Given the description of an element on the screen output the (x, y) to click on. 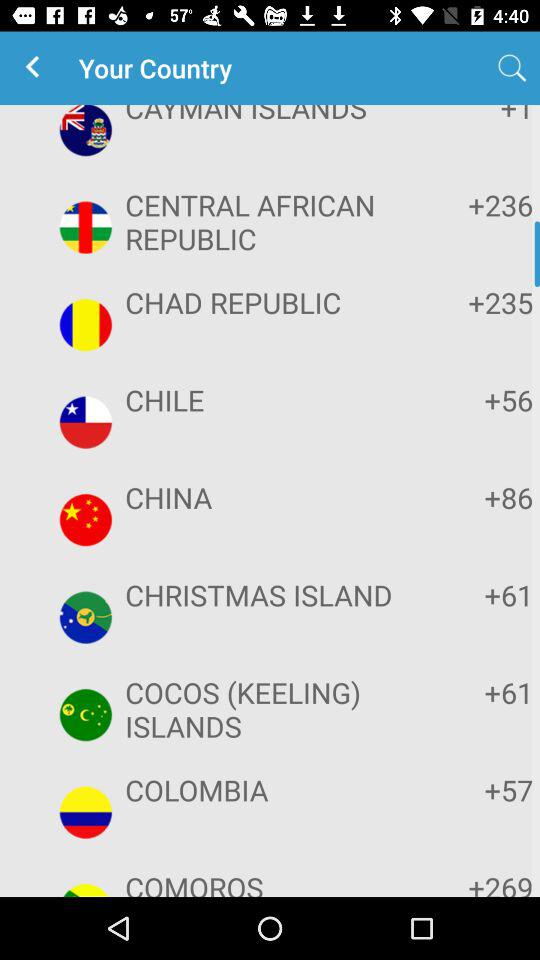
press the colombia (267, 789)
